Given the description of an element on the screen output the (x, y) to click on. 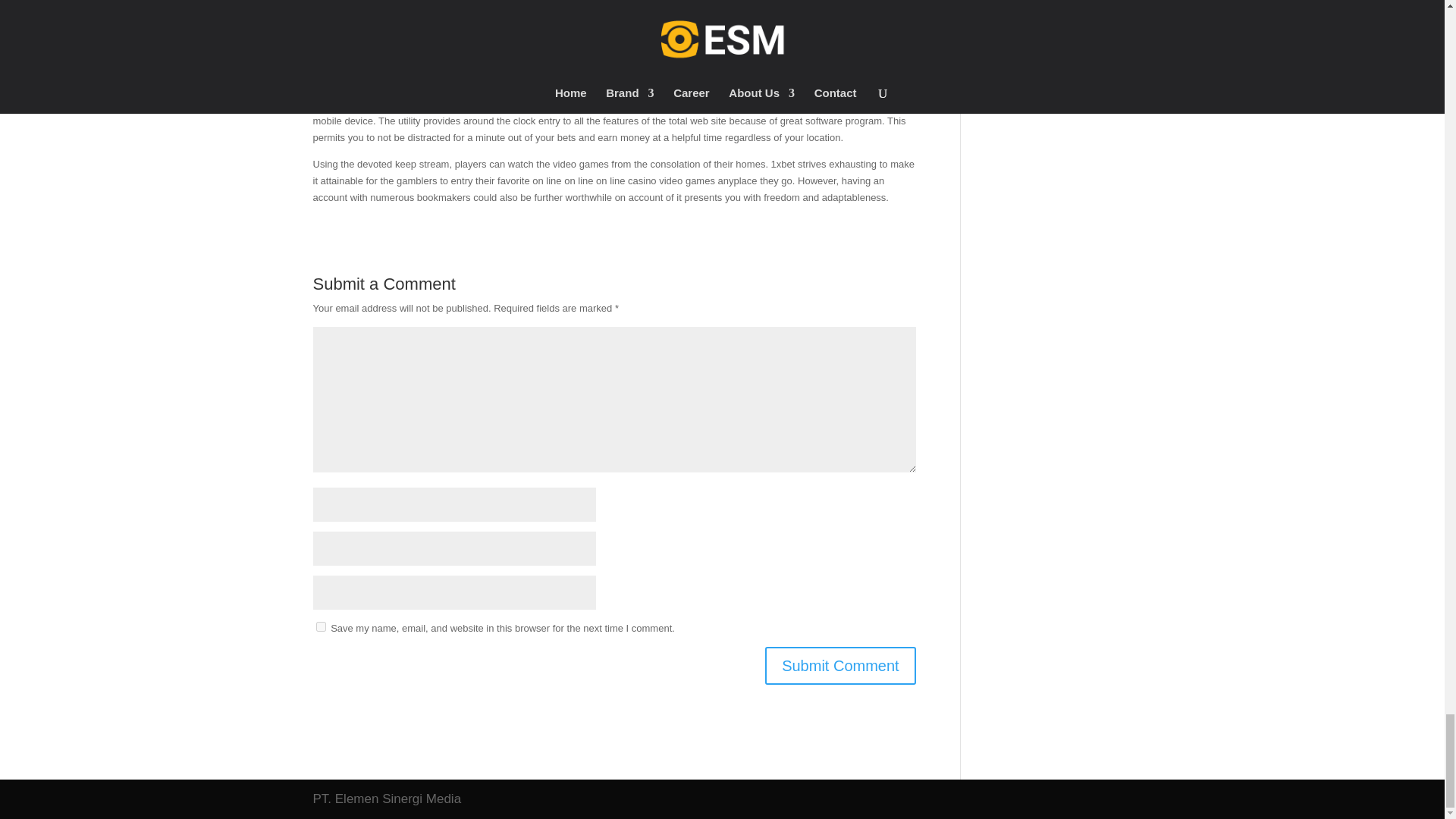
Submit Comment (840, 665)
Submit Comment (840, 665)
yes (319, 626)
